Given the description of an element on the screen output the (x, y) to click on. 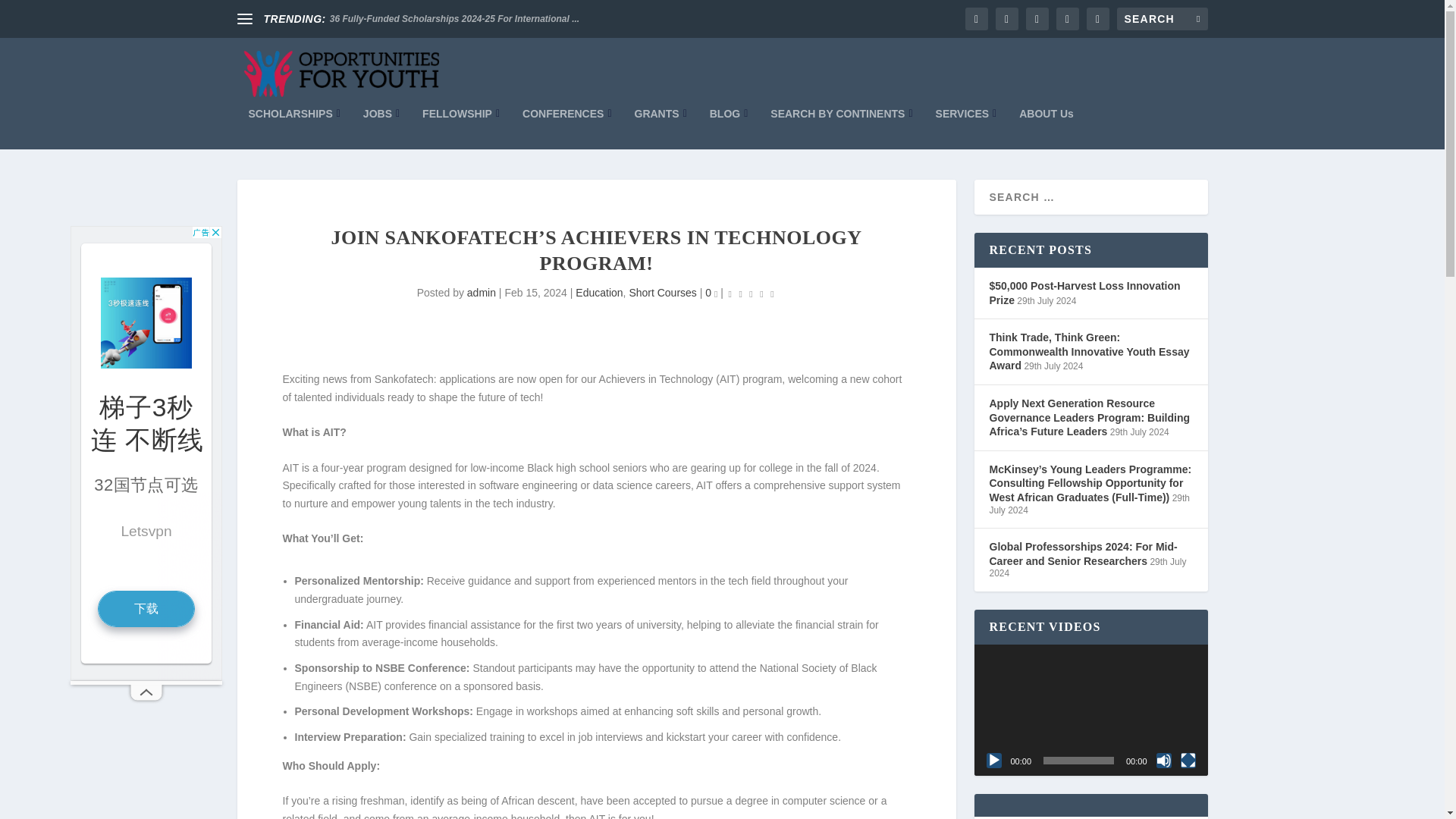
RECENT (1034, 154)
SCHOLARSHIPS (294, 128)
Search for: (1161, 18)
36 Fully-Funded Scholarships 2024-25 For International ... (454, 18)
